Given the description of an element on the screen output the (x, y) to click on. 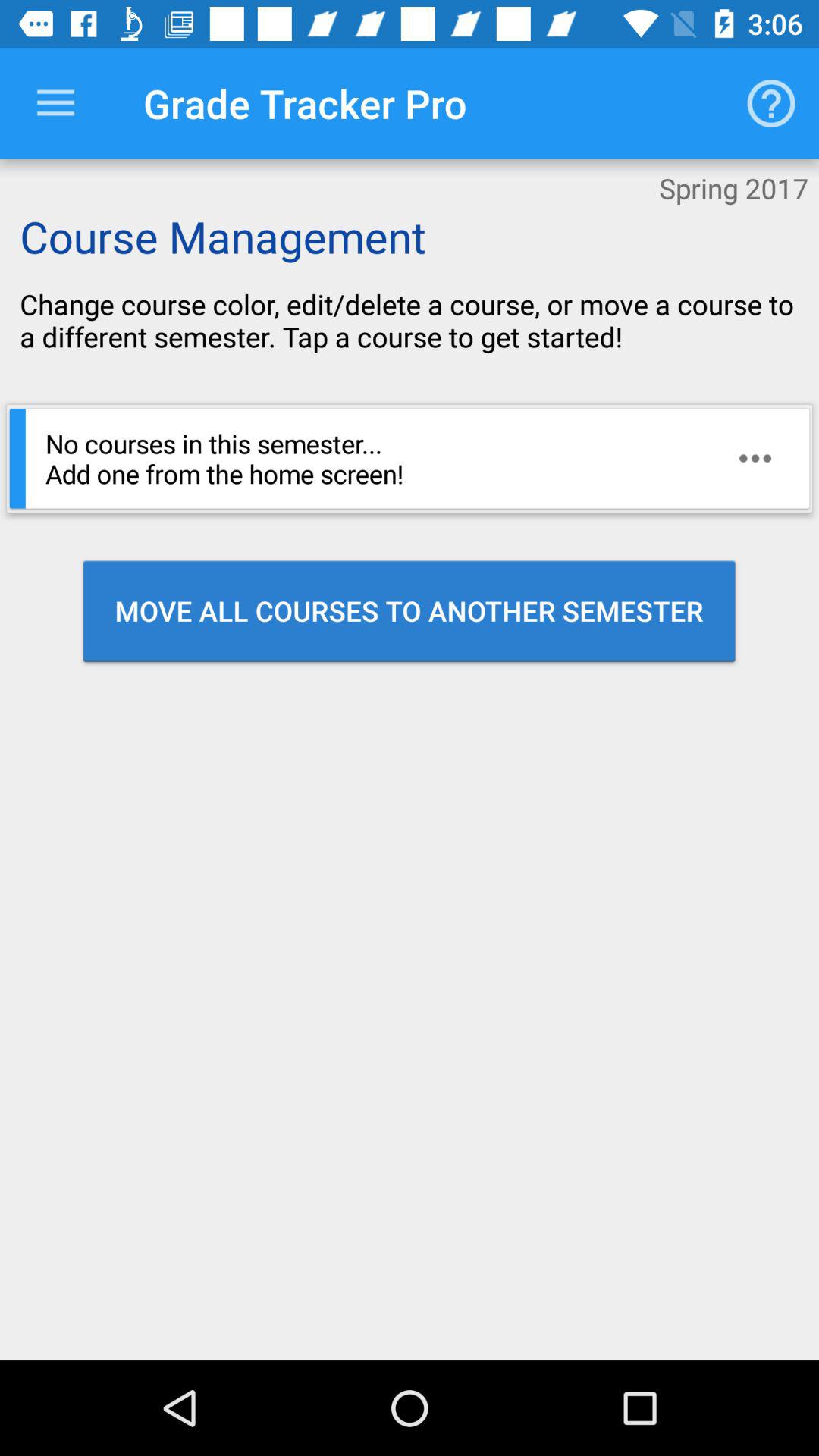
press the move all courses item (409, 610)
